Given the description of an element on the screen output the (x, y) to click on. 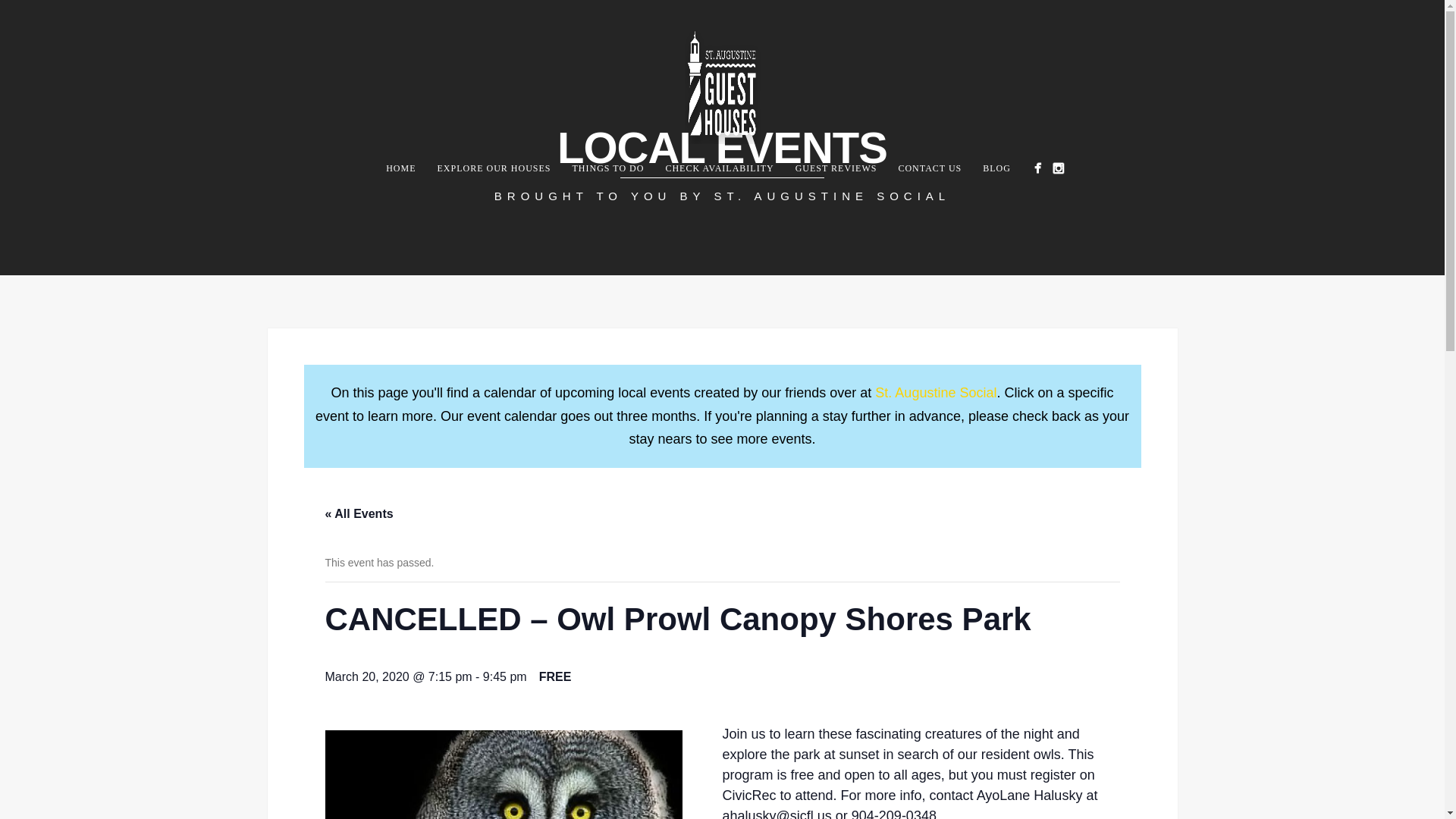
GUEST REVIEWS (836, 167)
Instagram (1057, 167)
CHECK AVAILABILITY (718, 167)
EXPLORE OUR HOUSES (493, 167)
St. Augustine Social (935, 392)
HOME (400, 167)
THINGS TO DO (608, 167)
BLOG (997, 167)
CONTACT US (929, 167)
Facebook (1036, 167)
